Given the description of an element on the screen output the (x, y) to click on. 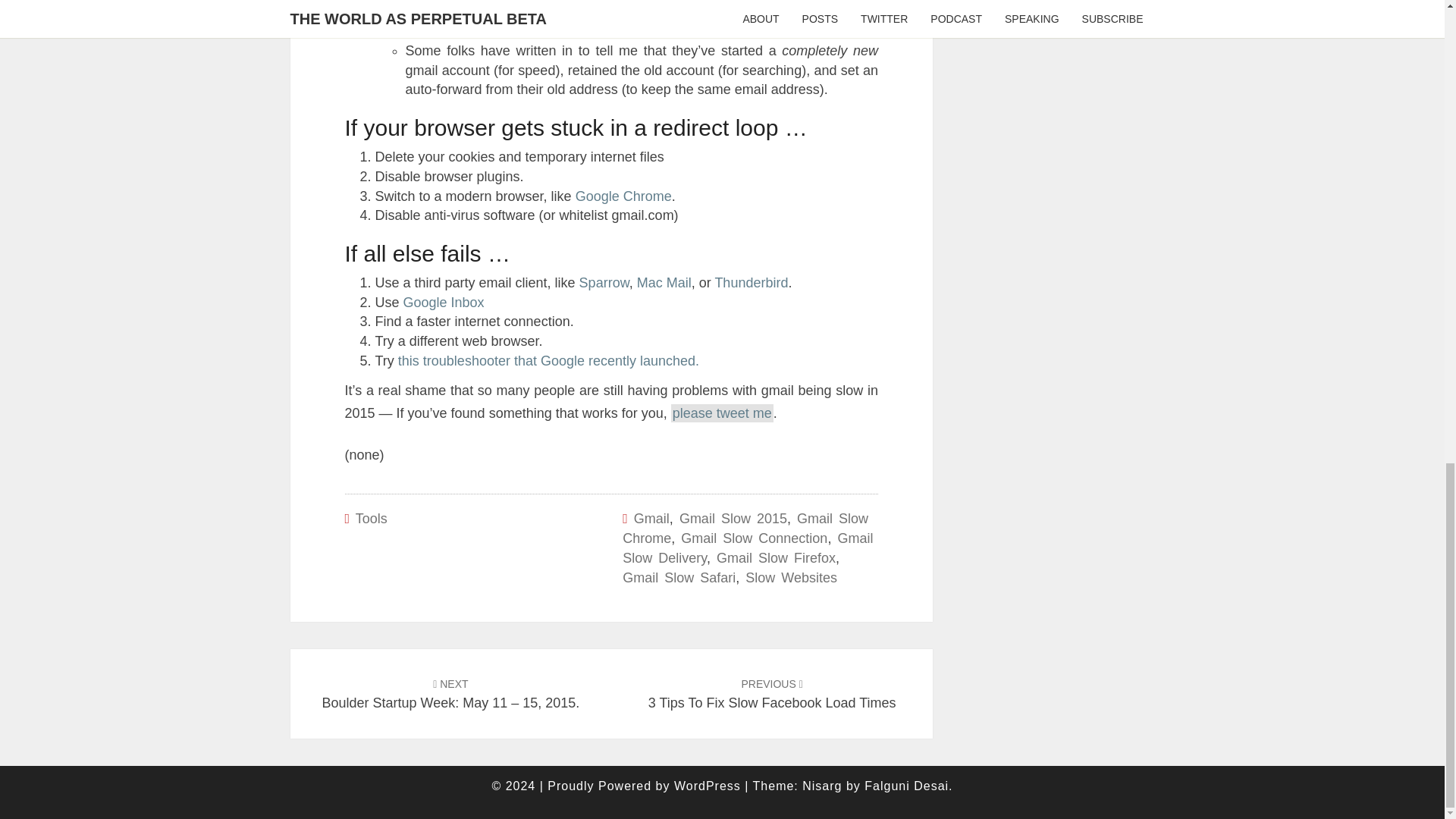
Slow Websites (791, 576)
Gmail Slow 2015 (771, 692)
Sparrow (733, 518)
WordPress (603, 282)
this troubleshooter that Google recently launched. (707, 785)
Gmail Slow Chrome (547, 360)
Google Inbox (745, 528)
Google Chrome (443, 302)
please tweet me (623, 196)
Tools (722, 413)
Gmail (371, 518)
Thunderbird (651, 518)
Mac Mail (750, 282)
Gmail Slow Delivery (664, 282)
